Given the description of an element on the screen output the (x, y) to click on. 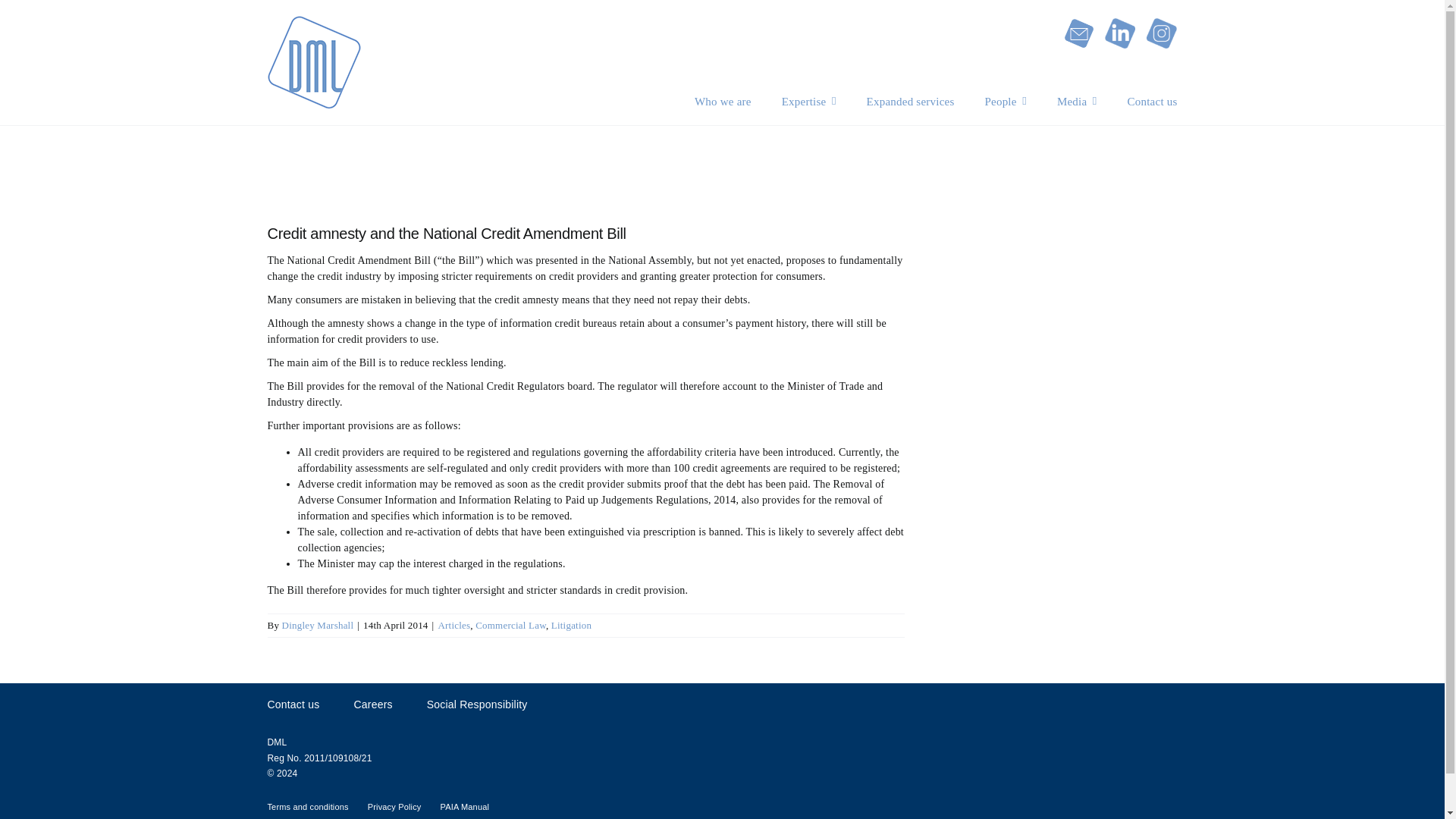
Privacy Policy (395, 805)
Media (1077, 100)
Social Responsibility (476, 704)
Contact us (1151, 100)
Dingley Marshall (317, 624)
Terms and conditions (306, 805)
People (1005, 100)
Posts by Dingley Marshall (317, 624)
Articles (454, 624)
Expanded services (910, 100)
